Given the description of an element on the screen output the (x, y) to click on. 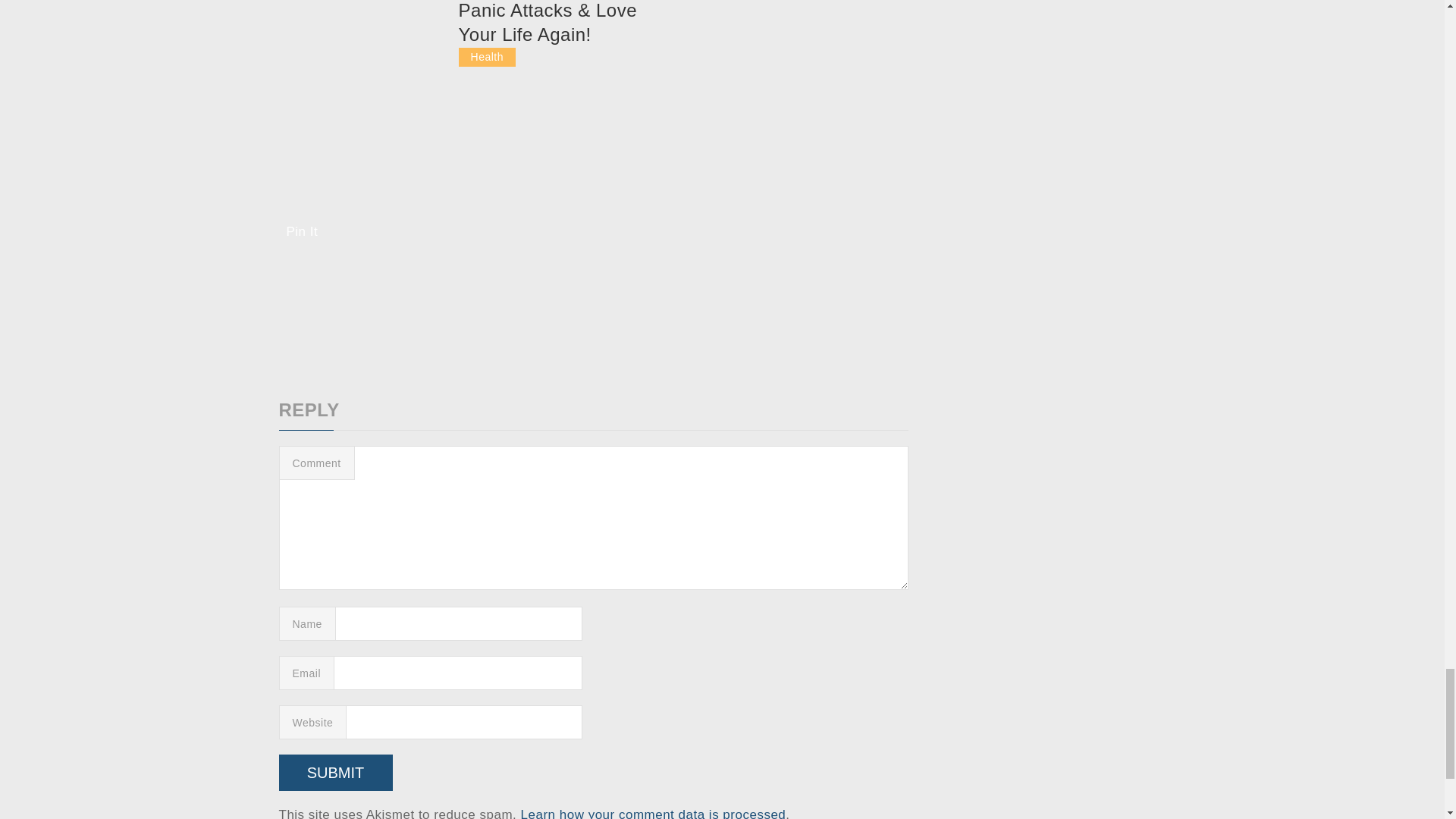
Submit (336, 772)
Learn how your comment data is processed (653, 813)
Submit (336, 772)
Health (486, 56)
View all posts in Health (486, 56)
